Given the description of an element on the screen output the (x, y) to click on. 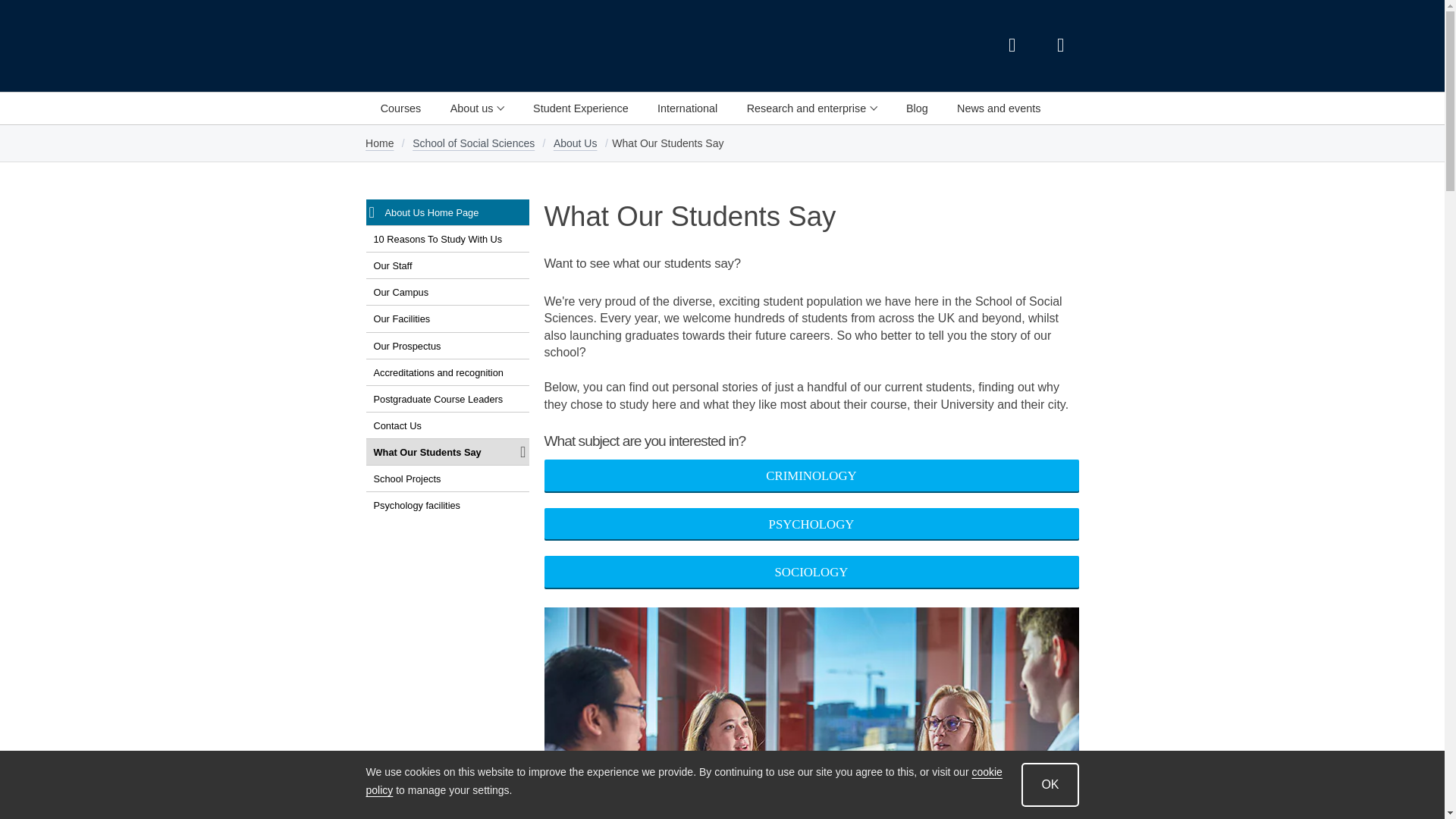
Student Experience (580, 108)
International (687, 108)
Courses (400, 108)
View saved courses (1060, 45)
Search the BCU website (1010, 45)
OK (1050, 784)
cookie policy (683, 780)
Birmingham City University (395, 45)
School of Social Sciences (545, 45)
Research and enterprise (811, 108)
